Given the description of an element on the screen output the (x, y) to click on. 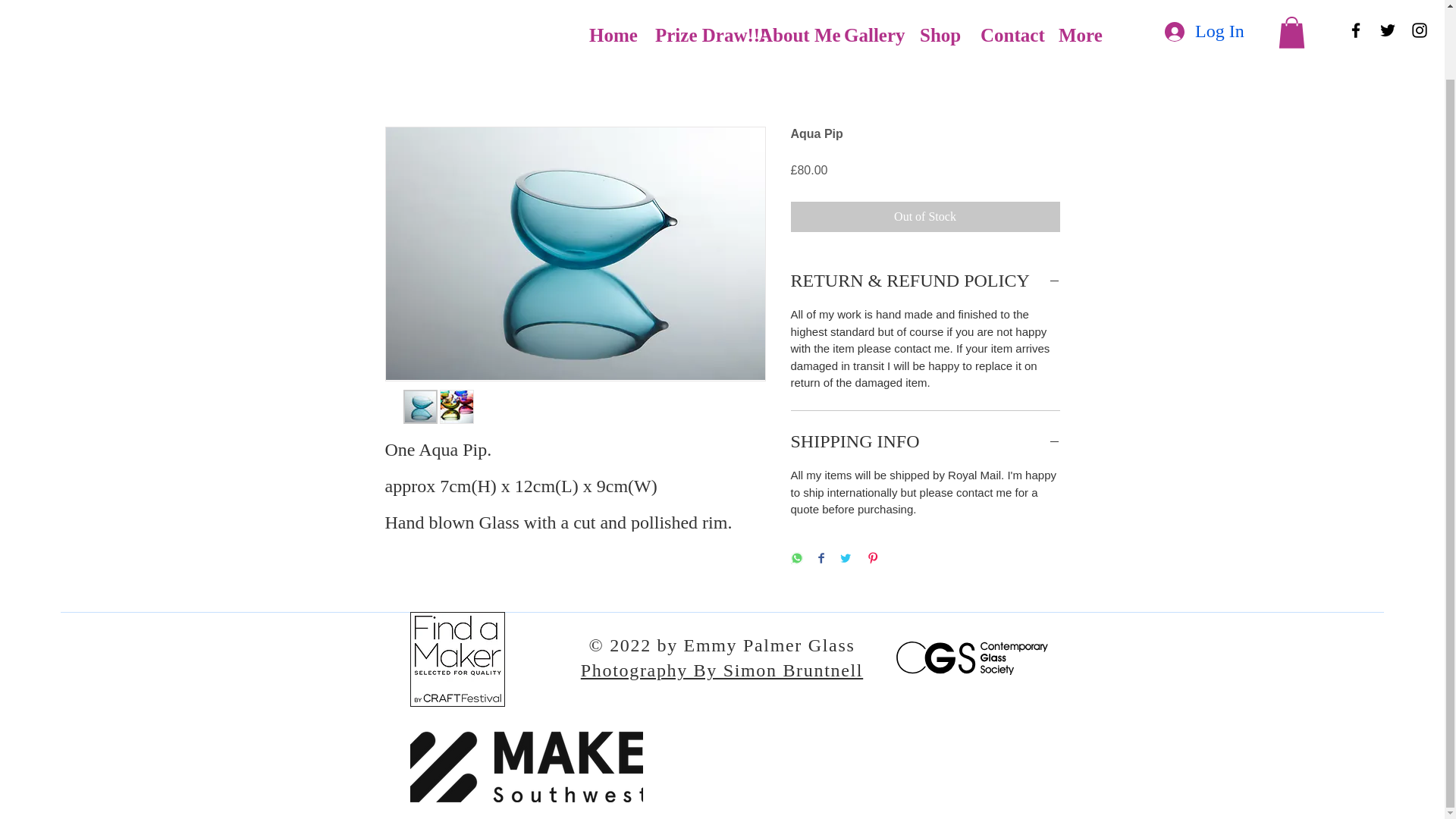
SHIPPING INFO (924, 442)
Photography By Simon Bruntnell (721, 670)
Out of Stock (924, 216)
